Given the description of an element on the screen output the (x, y) to click on. 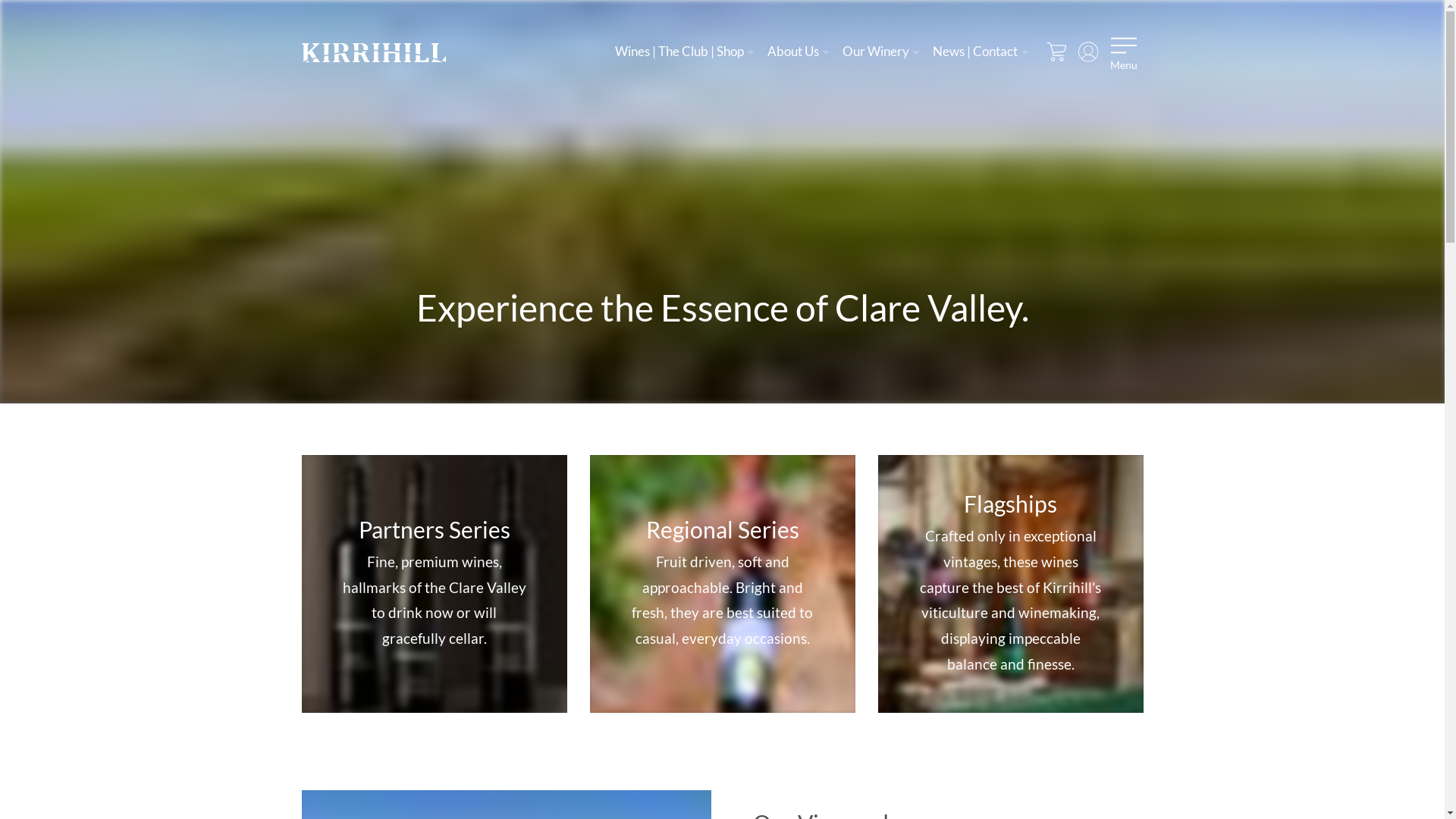
Wines | The Club | Shop Element type: text (683, 51)
About Us Element type: text (798, 51)
Cart Element type: hover (1056, 51)
News | Contact Element type: text (980, 51)
Flagships Element type: hover (1007, 581)
Partners Series Element type: hover (431, 581)
Menu Element type: text (1123, 50)
Regional Series Element type: hover (719, 581)
Our Winery Element type: text (880, 51)
Kirrihill Wines Logo Element type: hover (373, 52)
Experience the Essence of Clare Valley. Element type: hover (722, 201)
User Login Element type: hover (1088, 51)
